Given the description of an element on the screen output the (x, y) to click on. 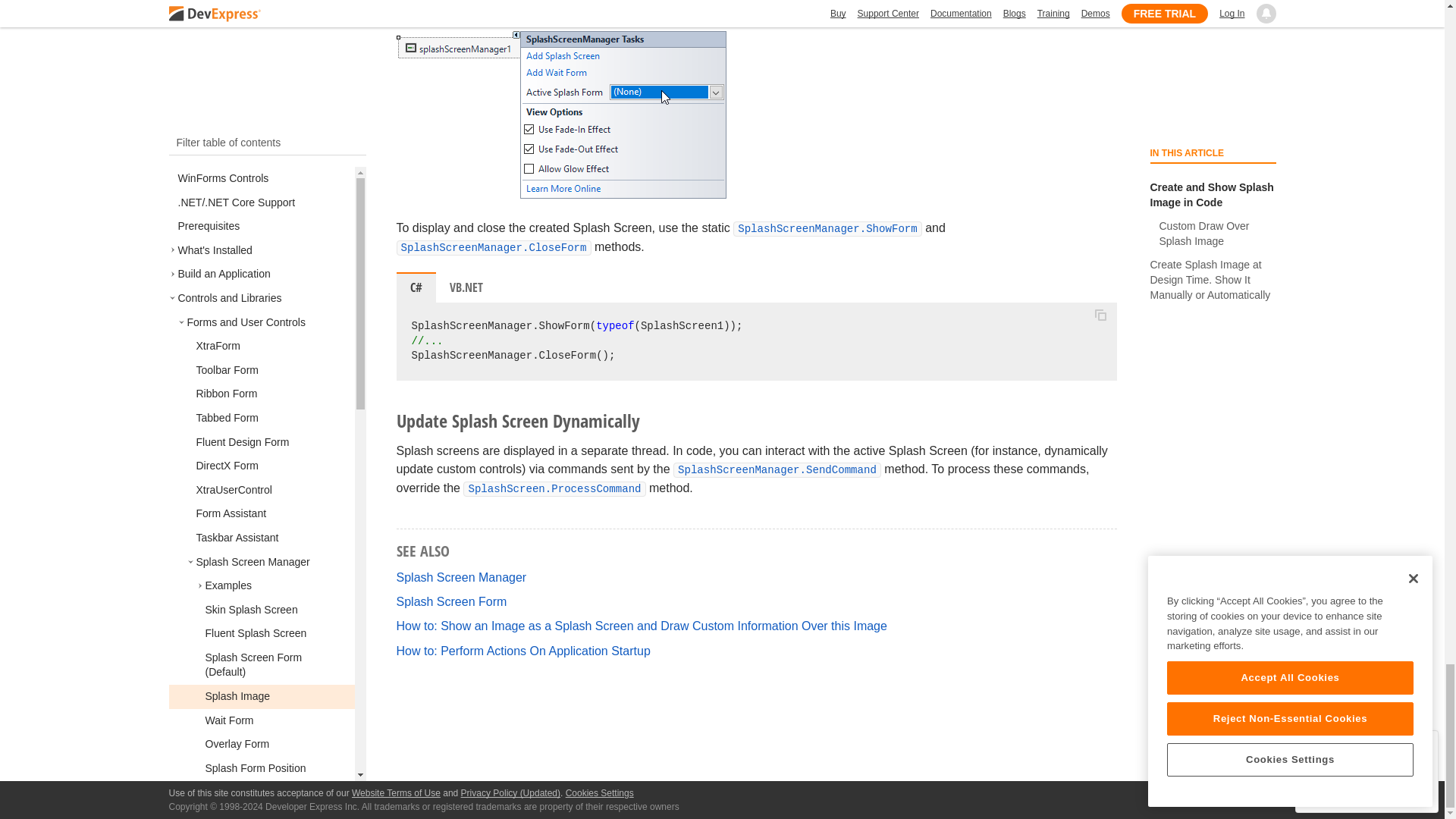
Copy (1100, 314)
